Given the description of an element on the screen output the (x, y) to click on. 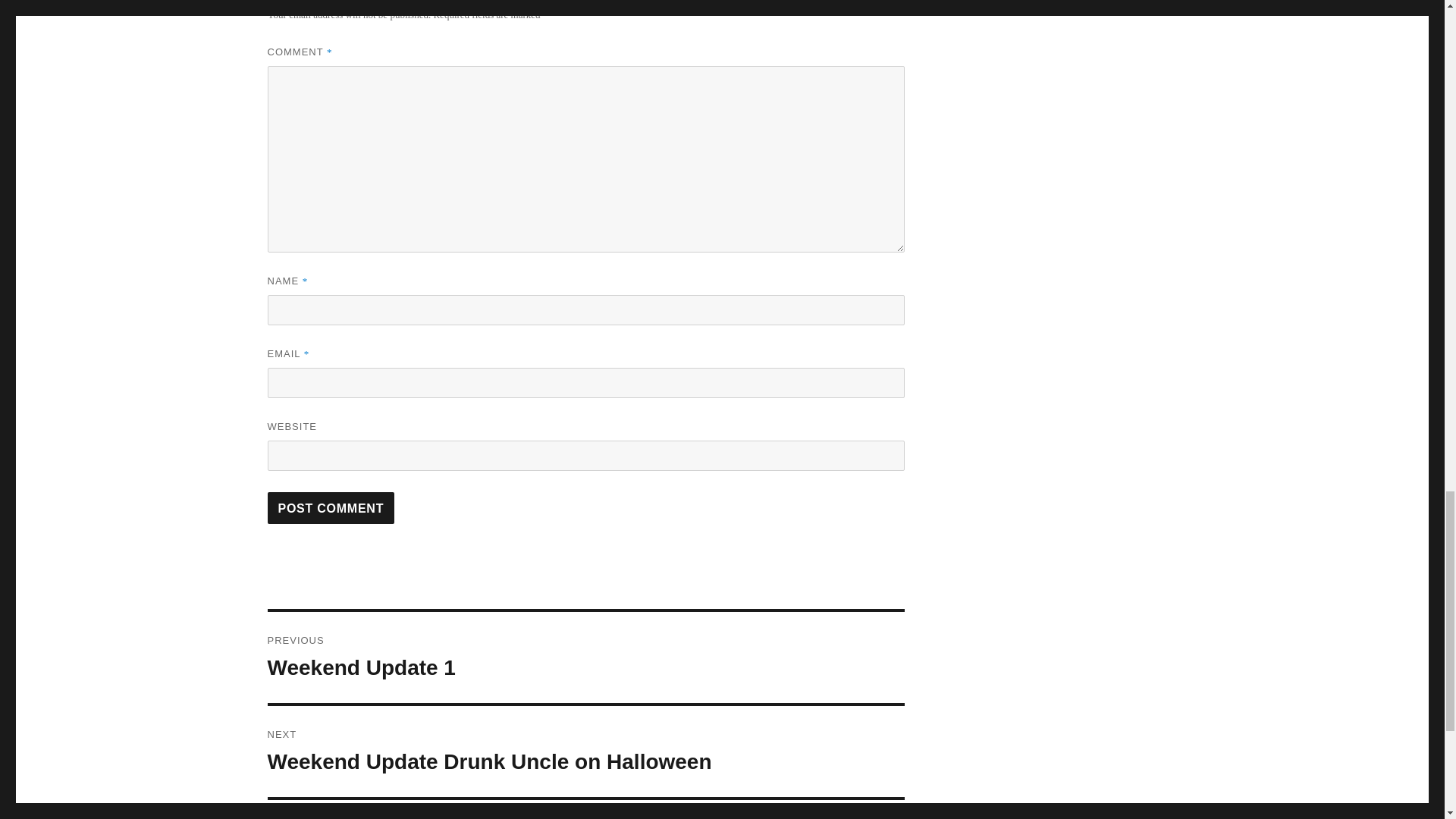
Post Comment (330, 508)
Post Comment (585, 656)
